Given the description of an element on the screen output the (x, y) to click on. 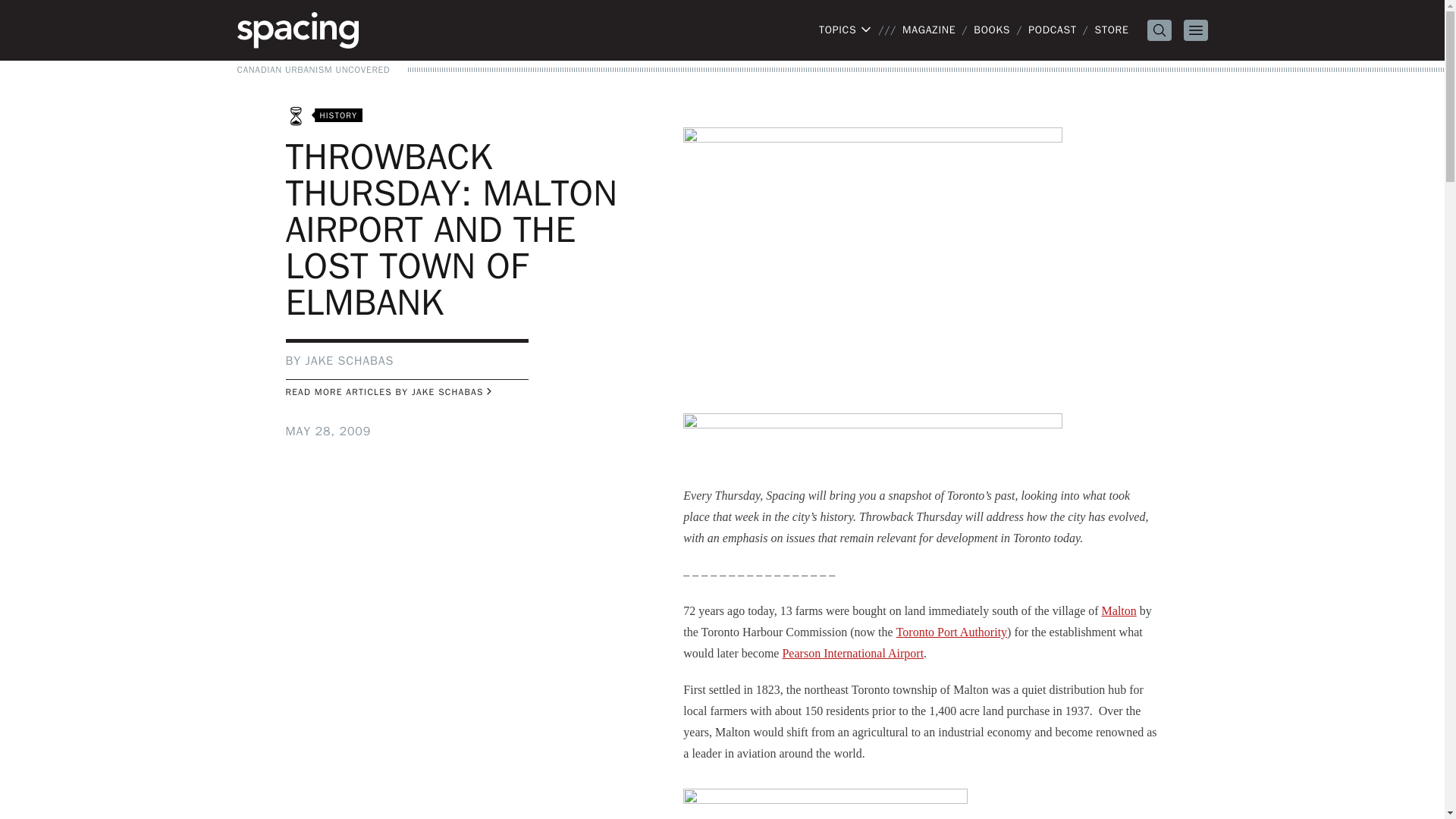
BOOKS (992, 29)
Malton Airport in the late 1930s (825, 803)
Malton Airport on June 1, 1939 (872, 258)
MAGAZINE (928, 29)
TOPICS (845, 29)
